Given the description of an element on the screen output the (x, y) to click on. 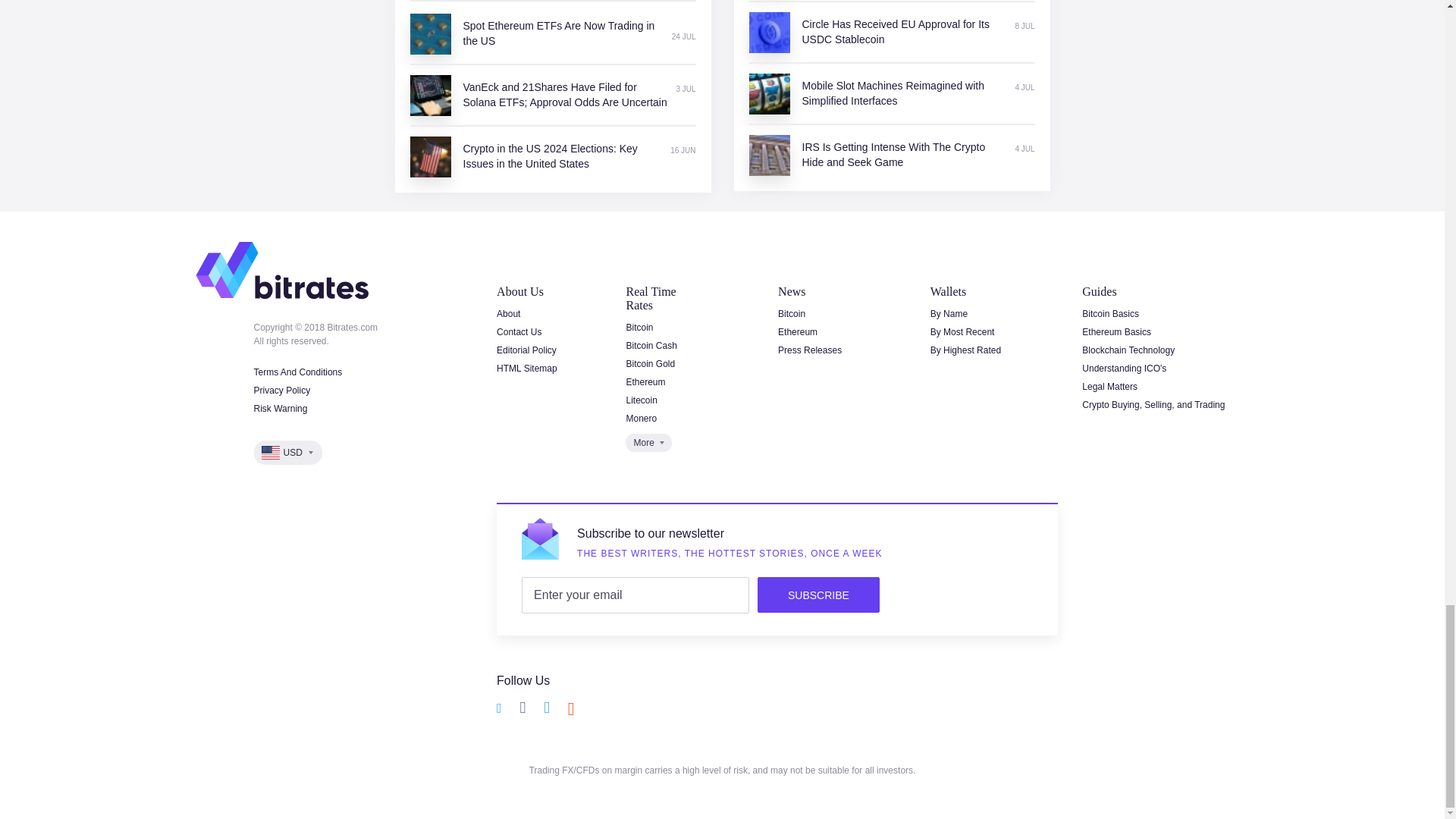
Wednesday, July 24, 2024 (683, 36)
Sunday, June 16, 2024 (682, 150)
Wednesday, July 03, 2024 (685, 89)
SUBSCRIBE (818, 594)
